Given the description of an element on the screen output the (x, y) to click on. 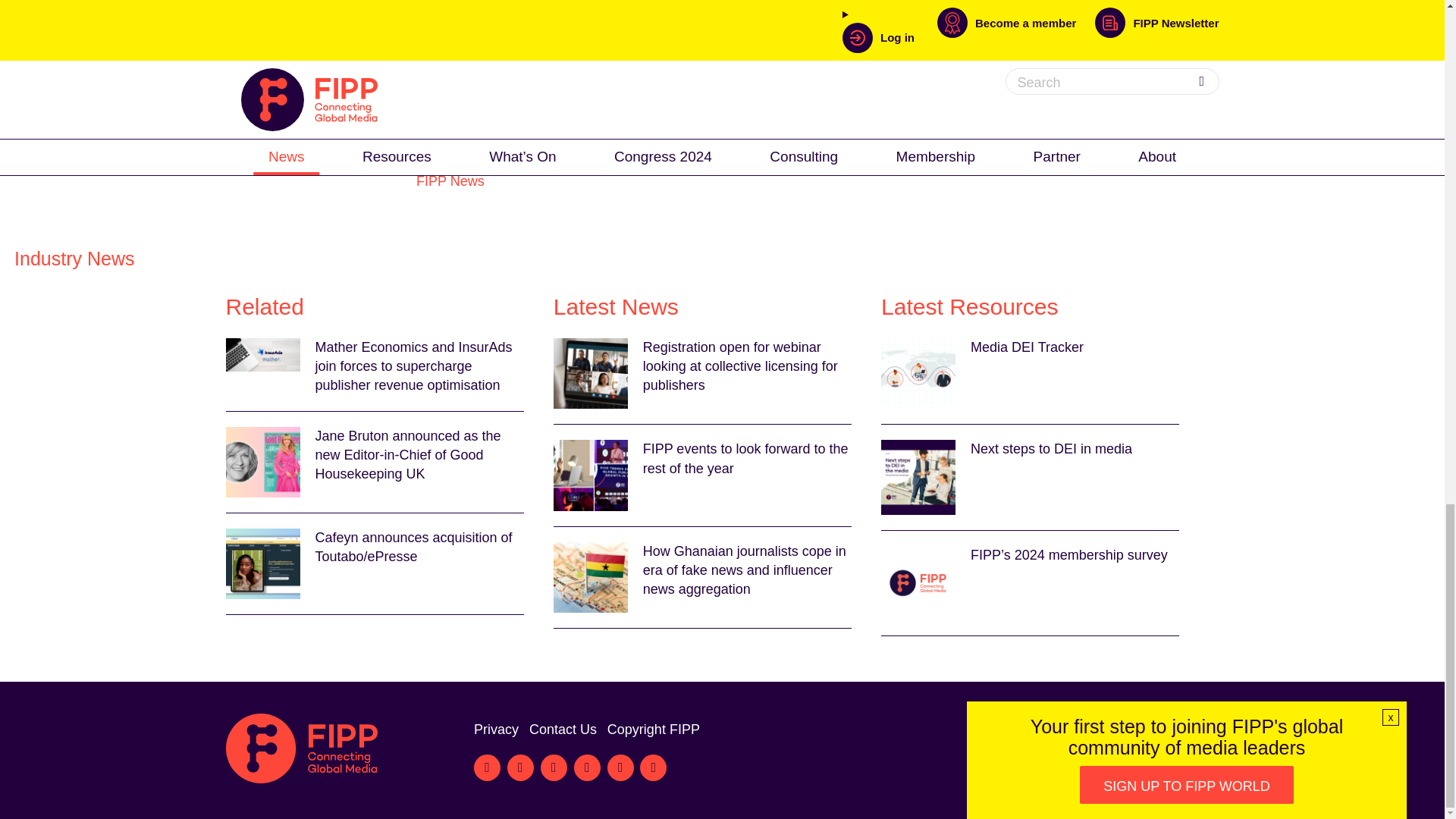
FIPP News (450, 181)
Industry News (73, 258)
